Given the description of an element on the screen output the (x, y) to click on. 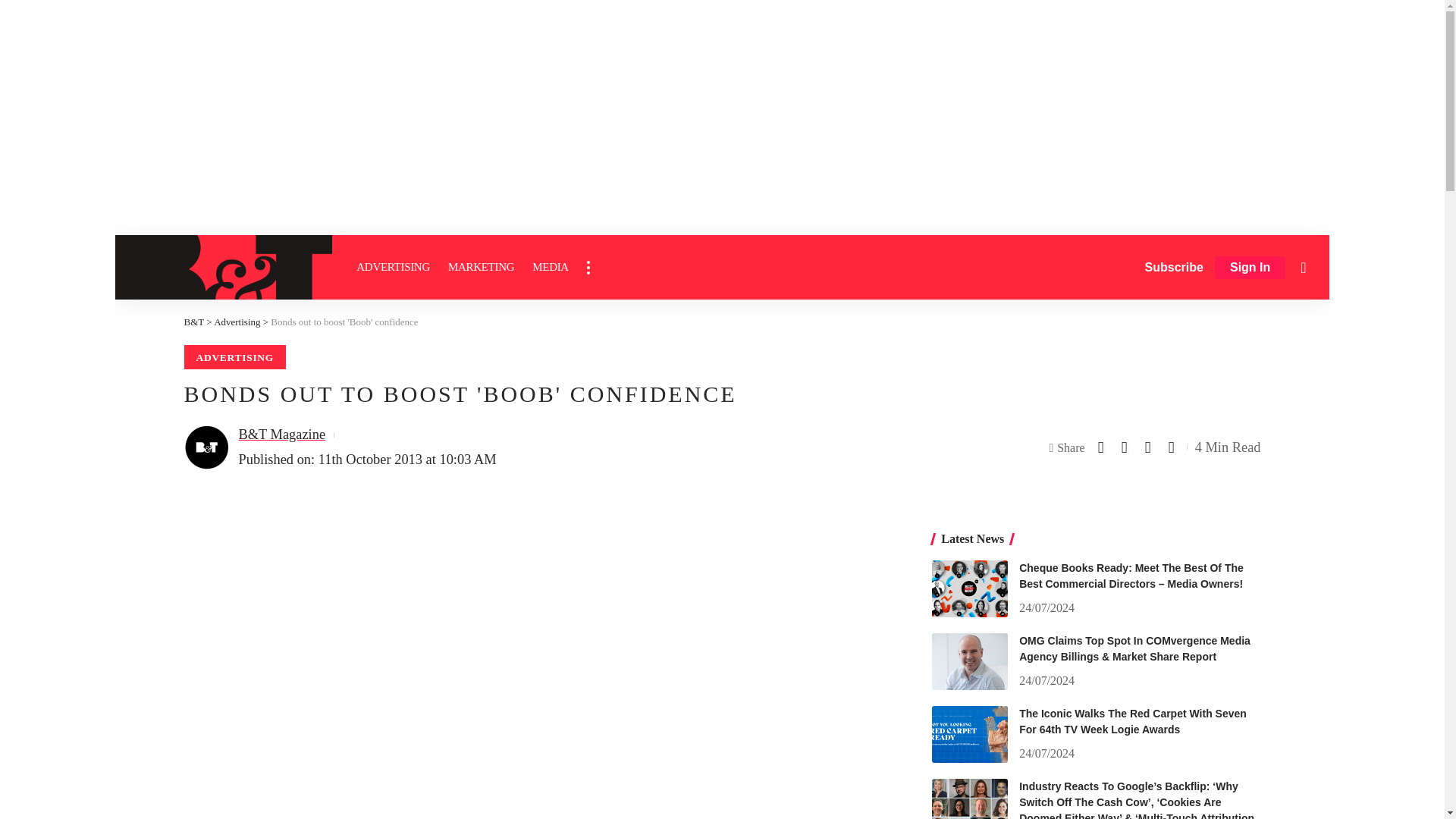
Sign In (1249, 267)
MARKETING (480, 267)
ADVERTISING (393, 267)
Subscribe (1174, 267)
Go to the Advertising Category archives. (237, 321)
